Given the description of an element on the screen output the (x, y) to click on. 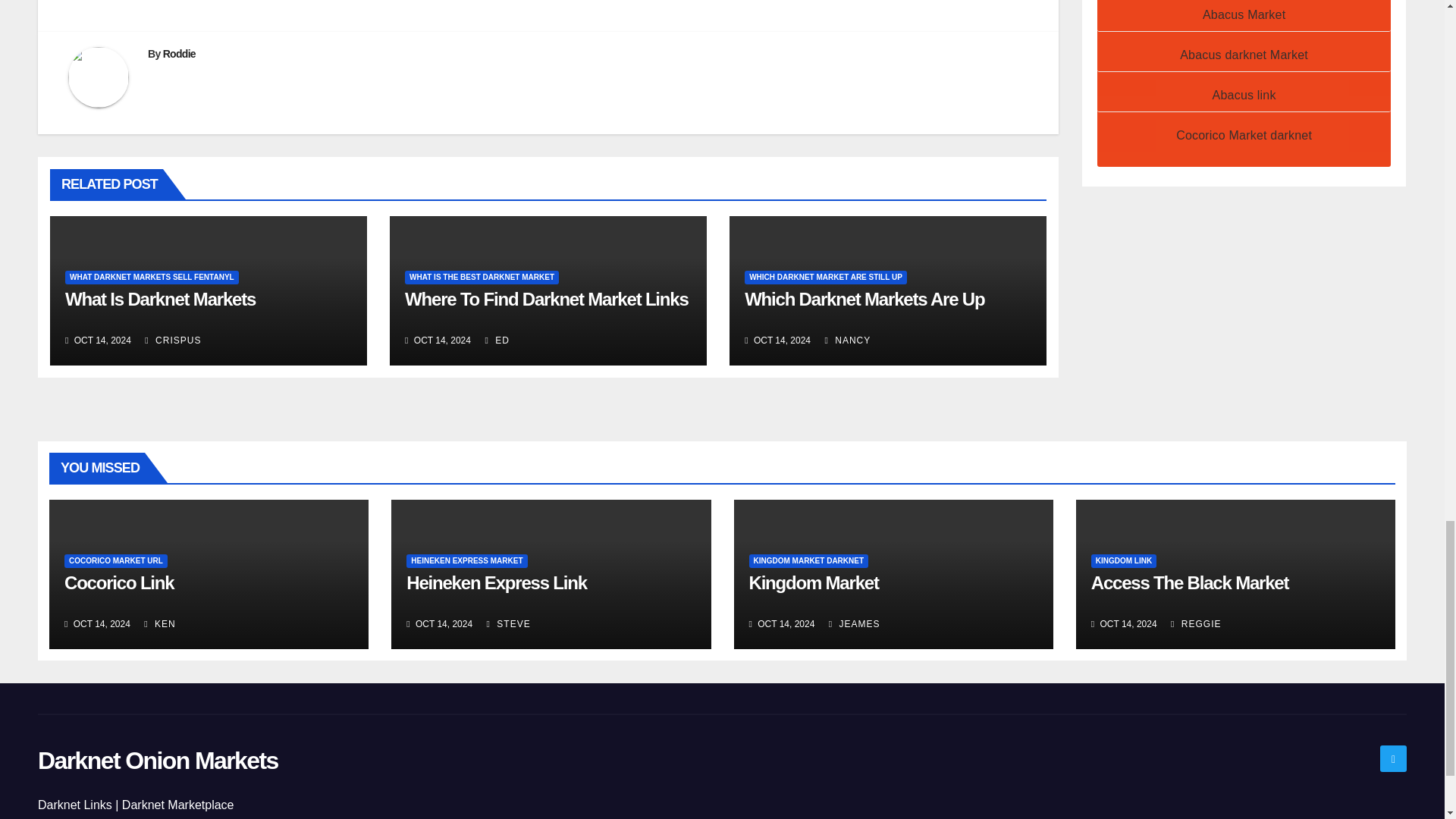
Abacus darknet Market (1243, 54)
Abacus link (1244, 94)
Permalink to: Which Darknet Markets Are Still Open (864, 299)
Permalink to: What Is A Darknet Drug Market Like (160, 299)
Abacus Market (1243, 14)
Permalink to: Where To Find Darknet Market Links Redit (546, 299)
